Given the description of an element on the screen output the (x, y) to click on. 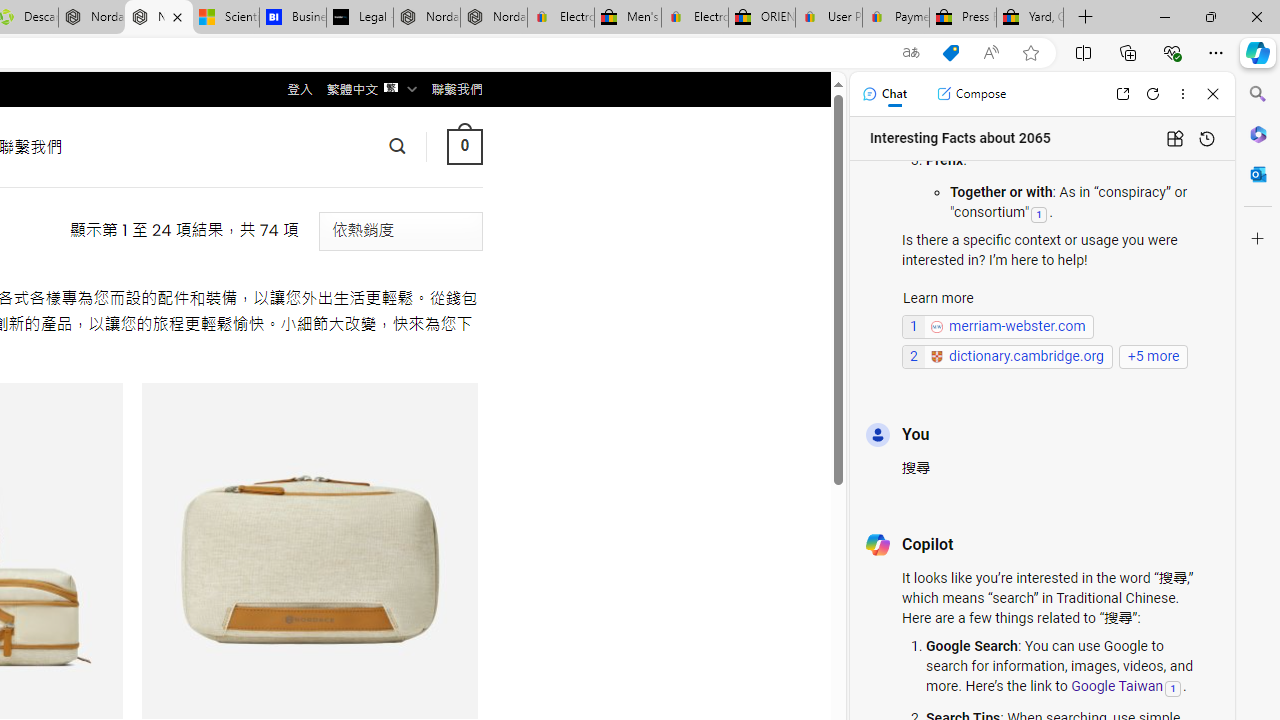
Payments Terms of Use | eBay.com (895, 17)
